Given the description of an element on the screen output the (x, y) to click on. 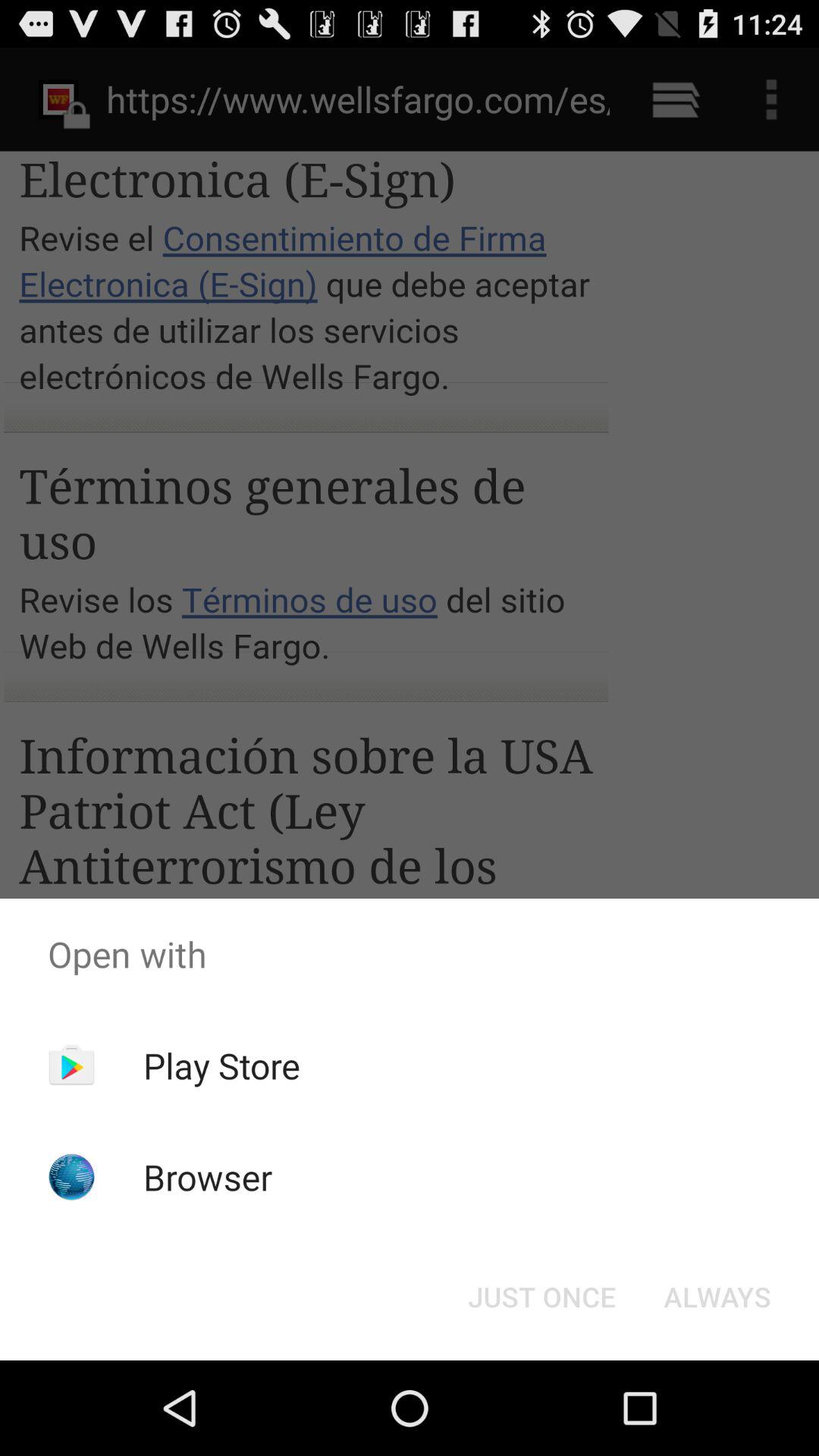
turn on the icon below the open with icon (541, 1296)
